Given the description of an element on the screen output the (x, y) to click on. 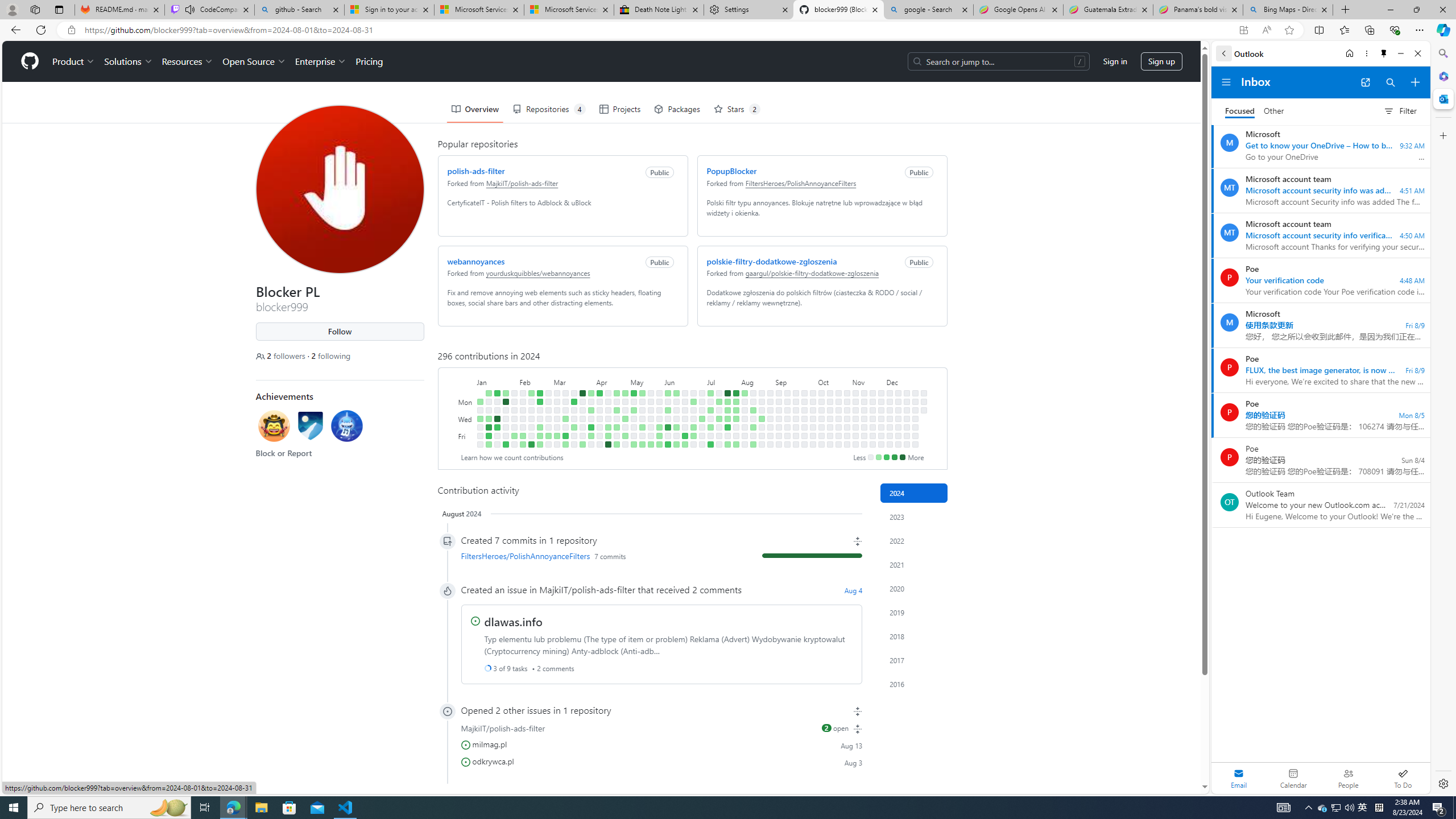
2 contributions on April 28th. (624, 392)
No contributions on March 4th. (556, 401)
1 contribution on February 11th. (530, 392)
gaargul/polskie-filtry-dodatkowe-zgloszenia (812, 272)
No contributions on January 19th. (496, 435)
No contributions on March 10th. (565, 392)
No contributions on December 11th. (897, 418)
No contributions on July 20th. (718, 444)
3 contributions on January 7th. (488, 392)
No contributions on August 16th. (753, 435)
Sign in to your account (389, 9)
No contributions on May 4th. (624, 444)
No contributions on June 11th. (675, 410)
